Given the description of an element on the screen output the (x, y) to click on. 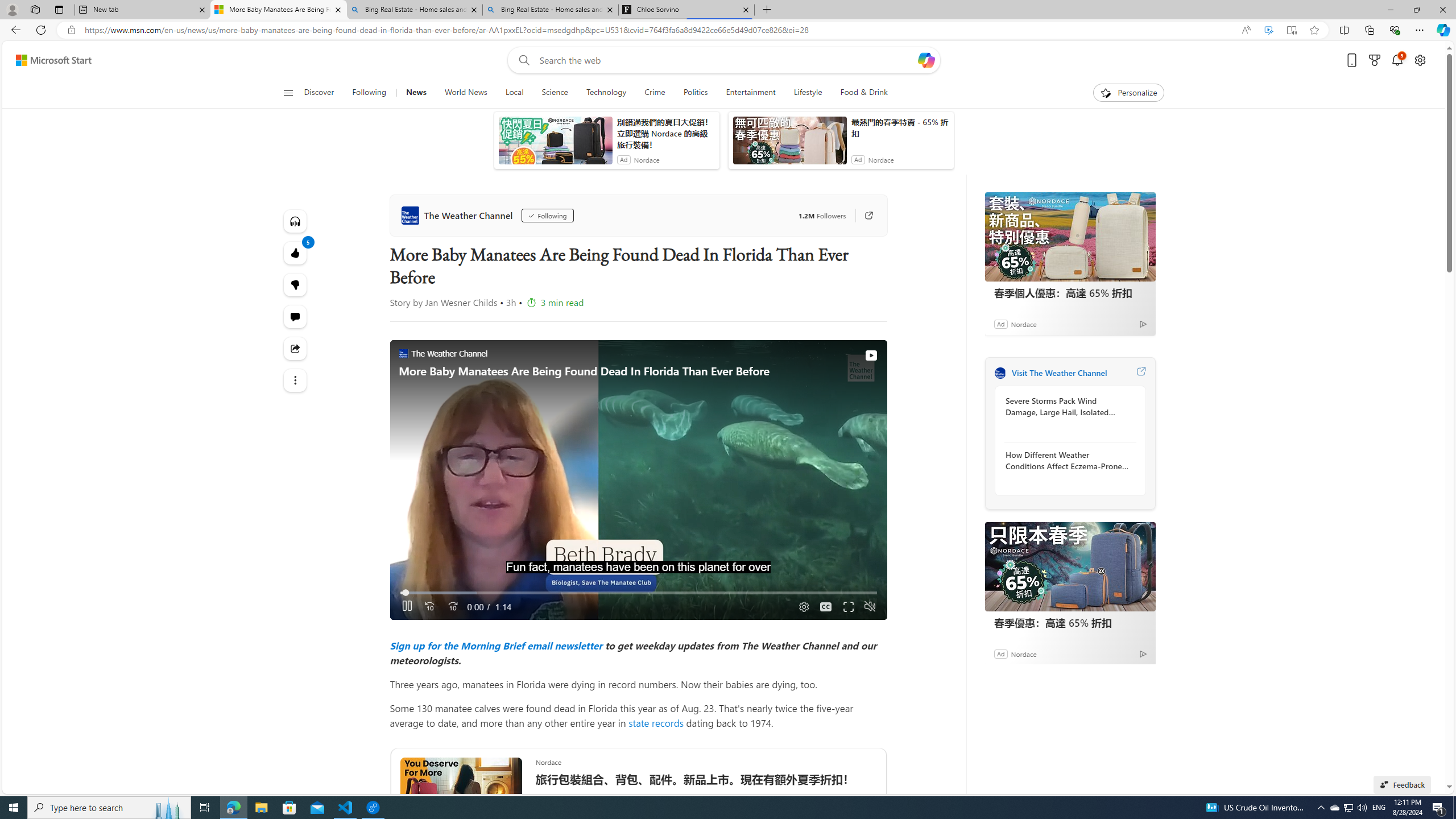
Class: button-glyph (287, 92)
Enter your search term (726, 59)
Notifications (1397, 60)
Go to publisher's site (863, 215)
Local (514, 92)
Captions (825, 606)
Seek Back (429, 606)
Unmute (868, 606)
Following (368, 92)
Lifestyle (807, 92)
